Given the description of an element on the screen output the (x, y) to click on. 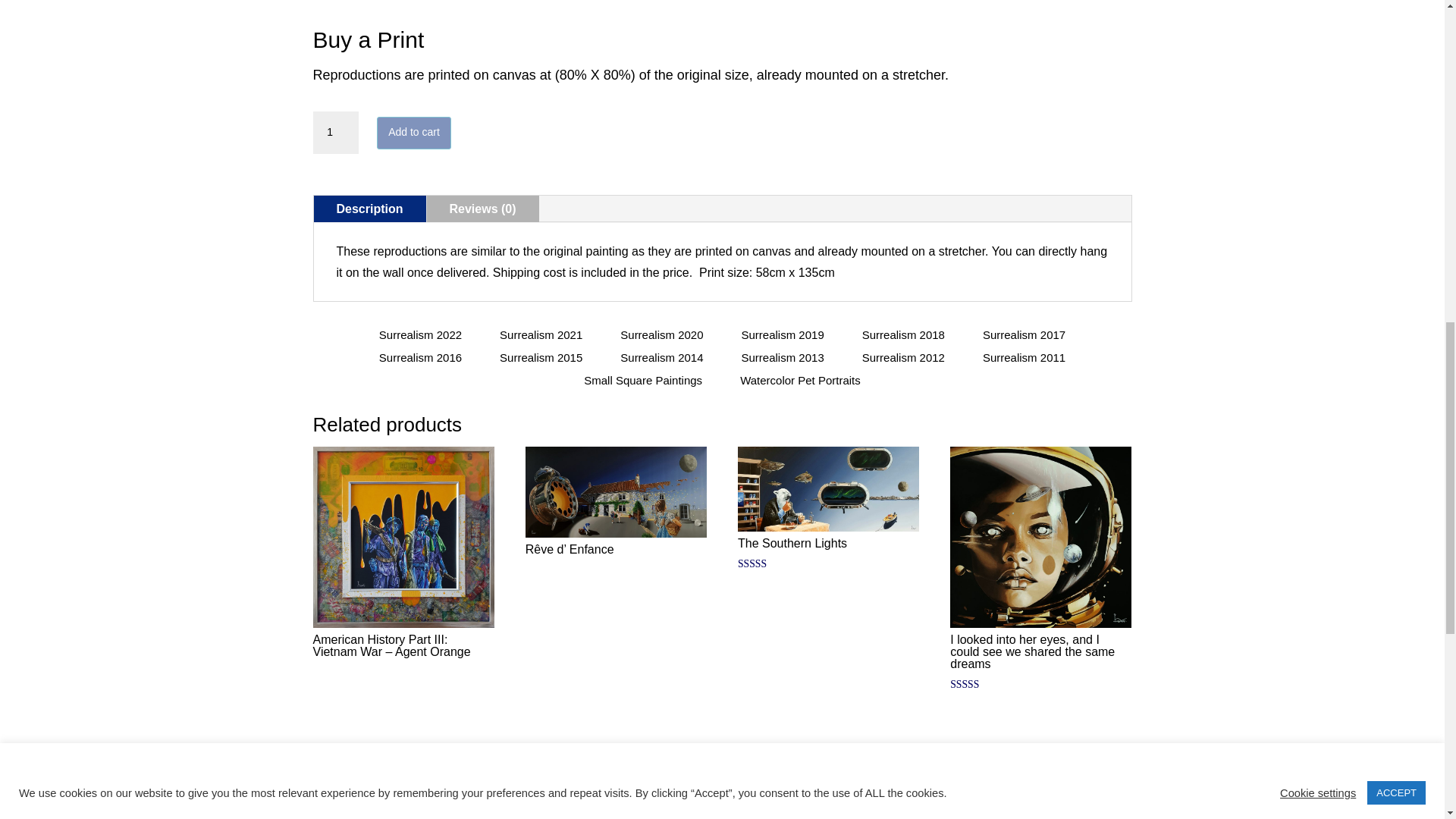
1 (335, 132)
